Given the description of an element on the screen output the (x, y) to click on. 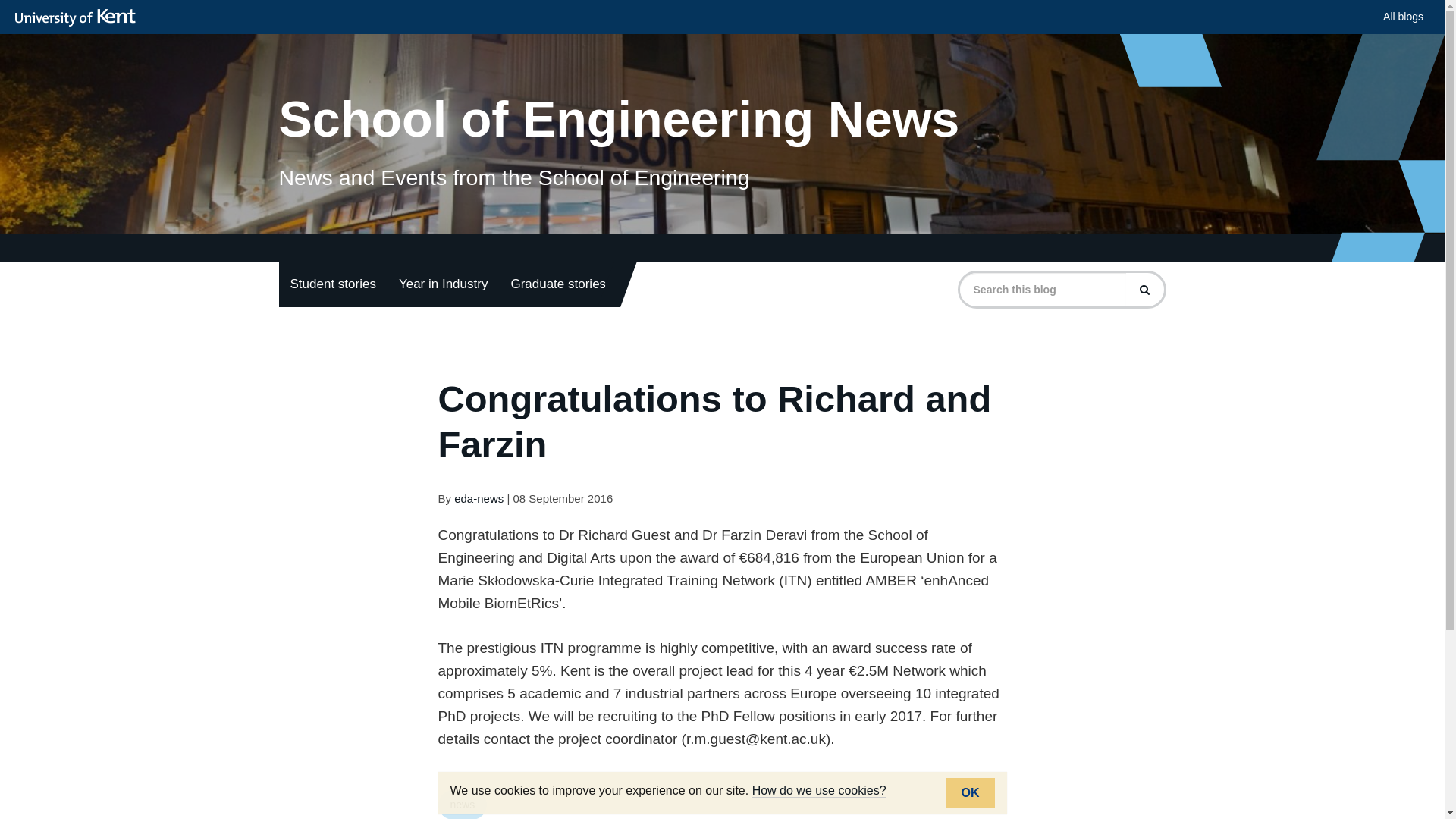
Year in Industry (443, 284)
OK (970, 793)
news (462, 804)
All blogs (1403, 16)
University of Kent (78, 18)
eda-news (478, 498)
Graduate stories (558, 284)
Student stories (333, 284)
School of Engineering News (722, 90)
How do we use cookies? (819, 790)
Search (1144, 289)
University of Kent website homepage (78, 18)
